Given the description of an element on the screen output the (x, y) to click on. 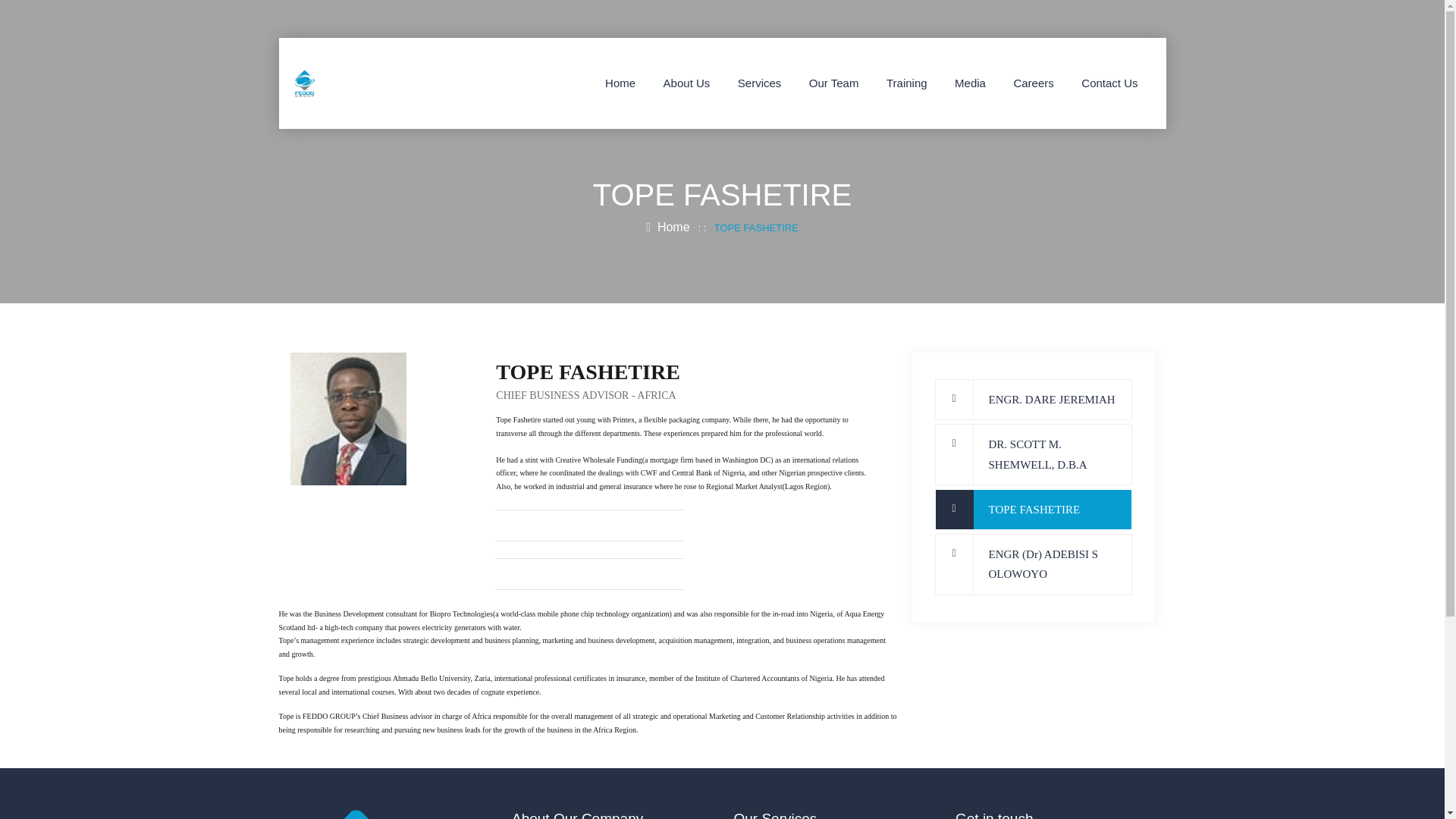
DR. SCOTT M. SHEMWELL, D.B.A (1033, 454)
Contact Us (1109, 82)
Go to Feddo Group. (667, 226)
ENGR. DARE JEREMIAH (1033, 399)
TOPE FASHETIRE (1033, 508)
  Home (667, 226)
